Given the description of an element on the screen output the (x, y) to click on. 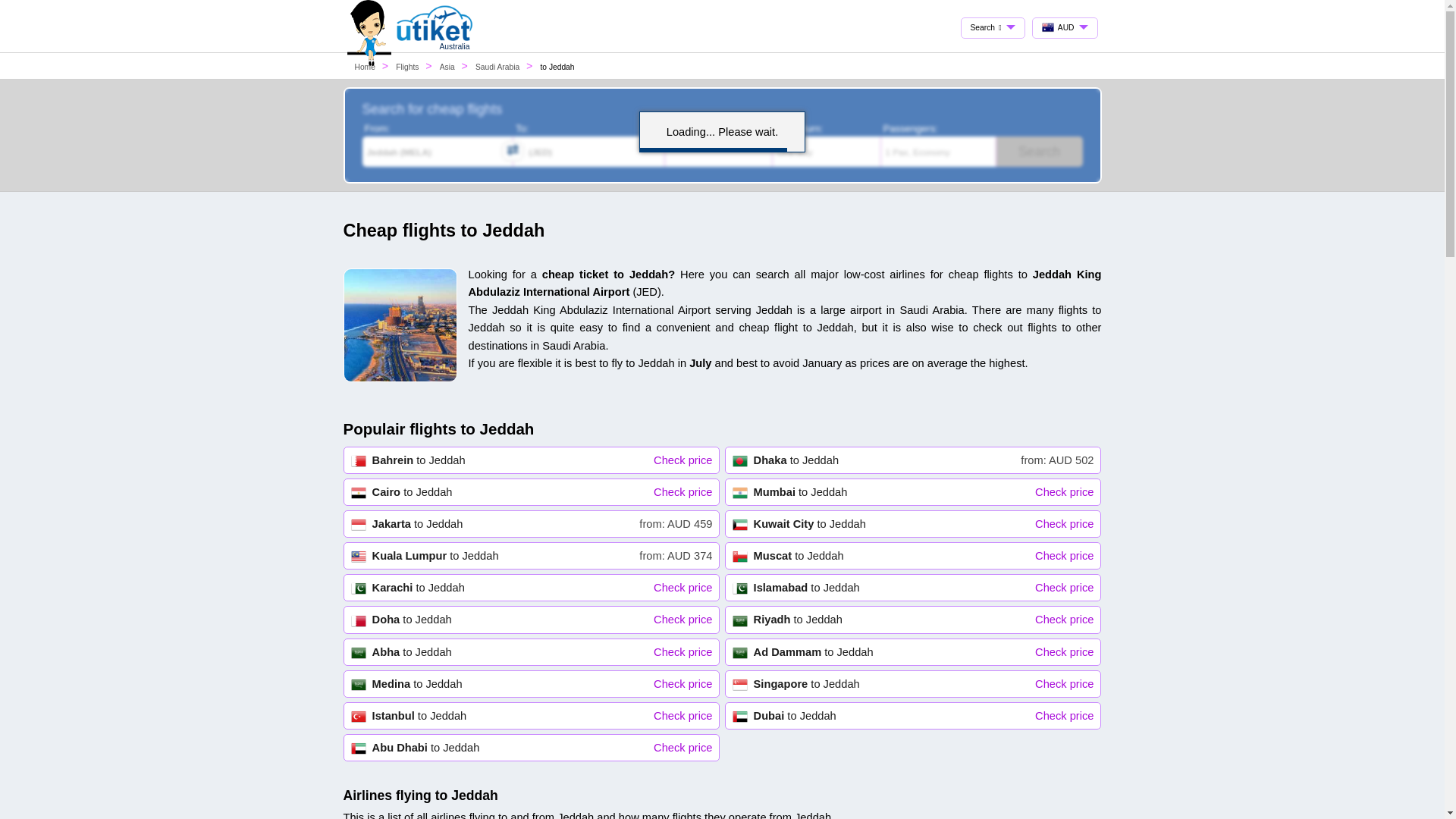
Search (912, 555)
Home (1039, 151)
Asia (531, 747)
Australia (365, 67)
1 Pax, Economy (912, 619)
One-way (531, 491)
Flights (446, 67)
